Given the description of an element on the screen output the (x, y) to click on. 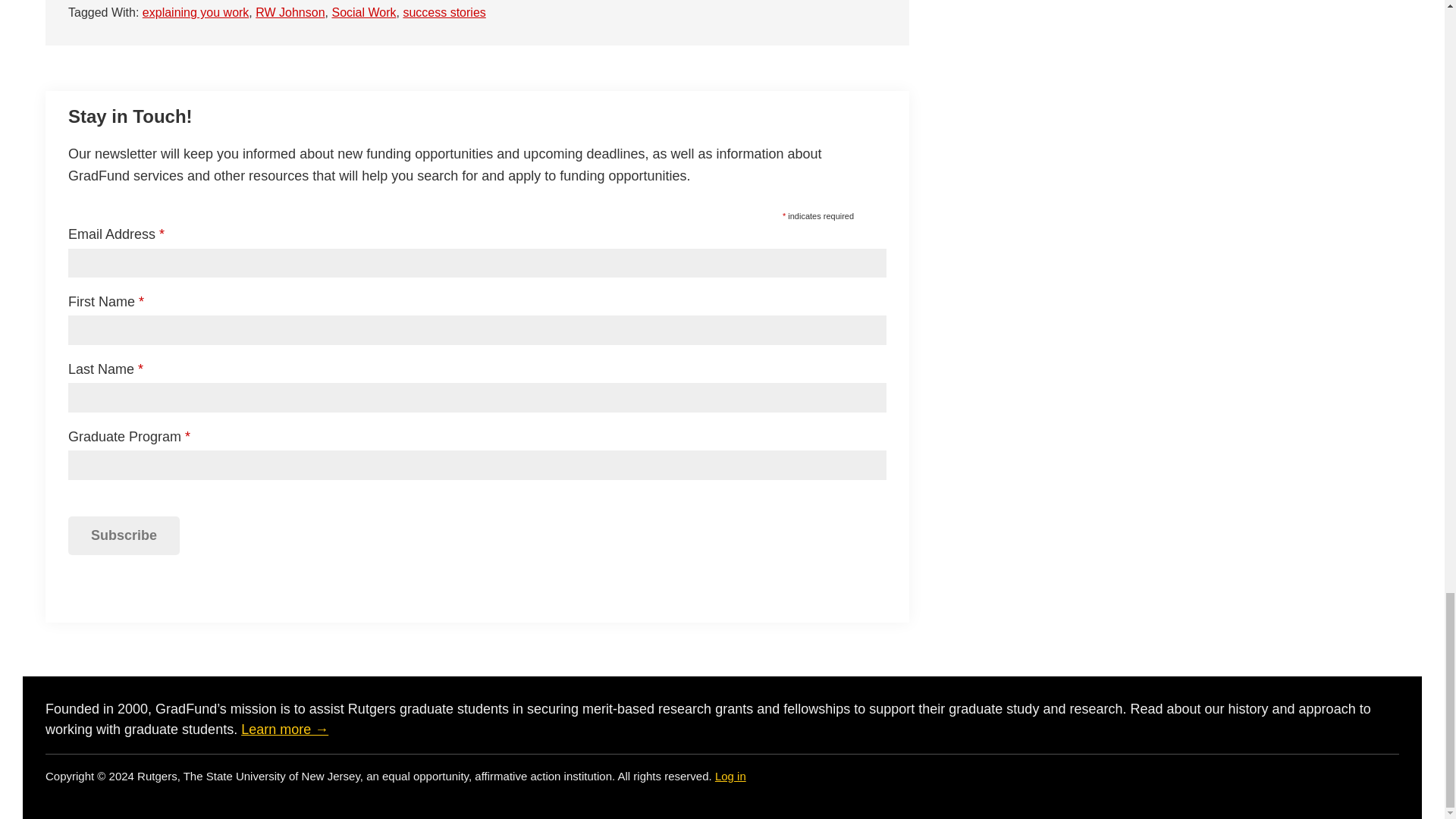
Subscribe (123, 535)
